Given the description of an element on the screen output the (x, y) to click on. 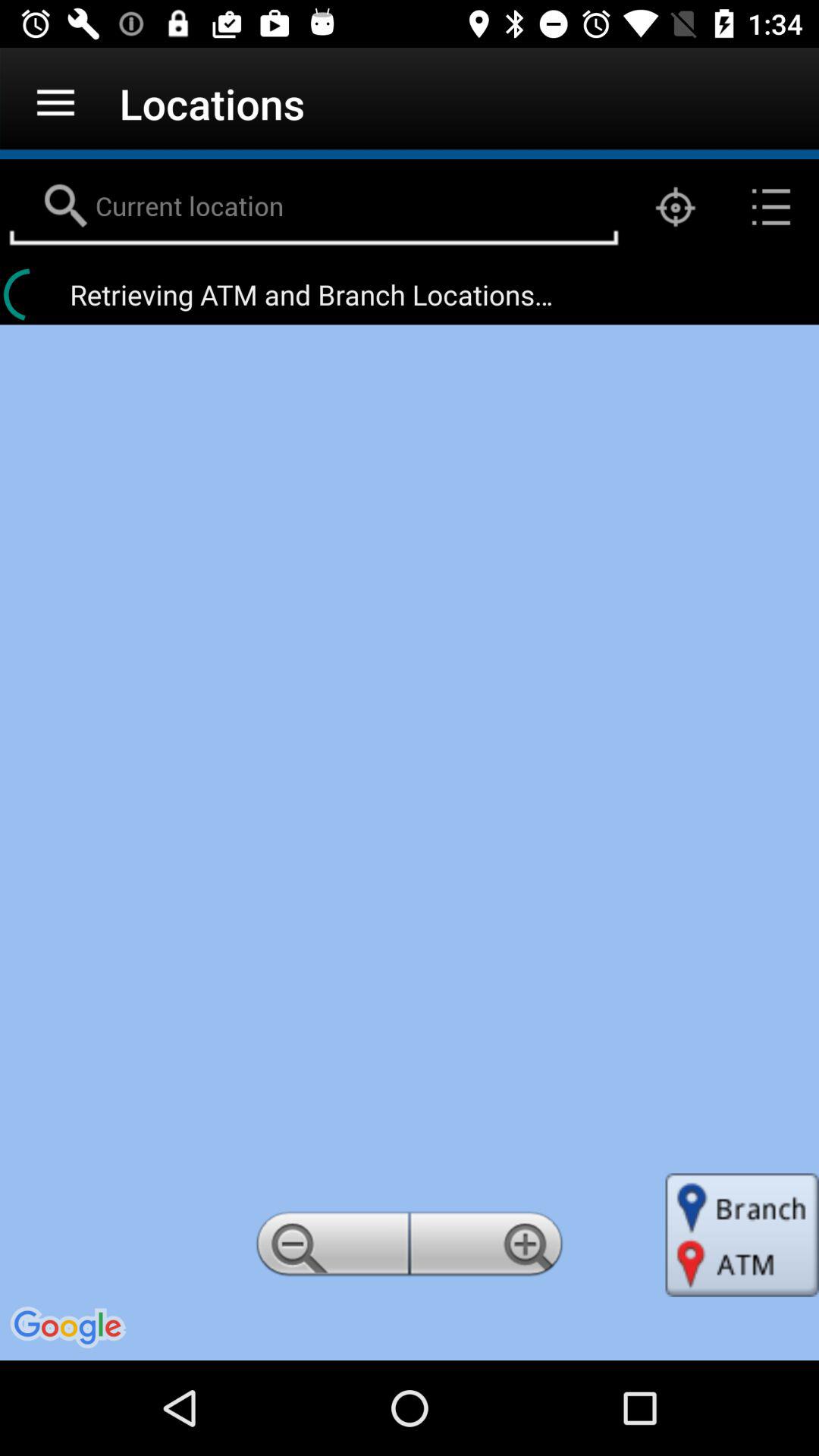
zoom in (488, 1248)
